Given the description of an element on the screen output the (x, y) to click on. 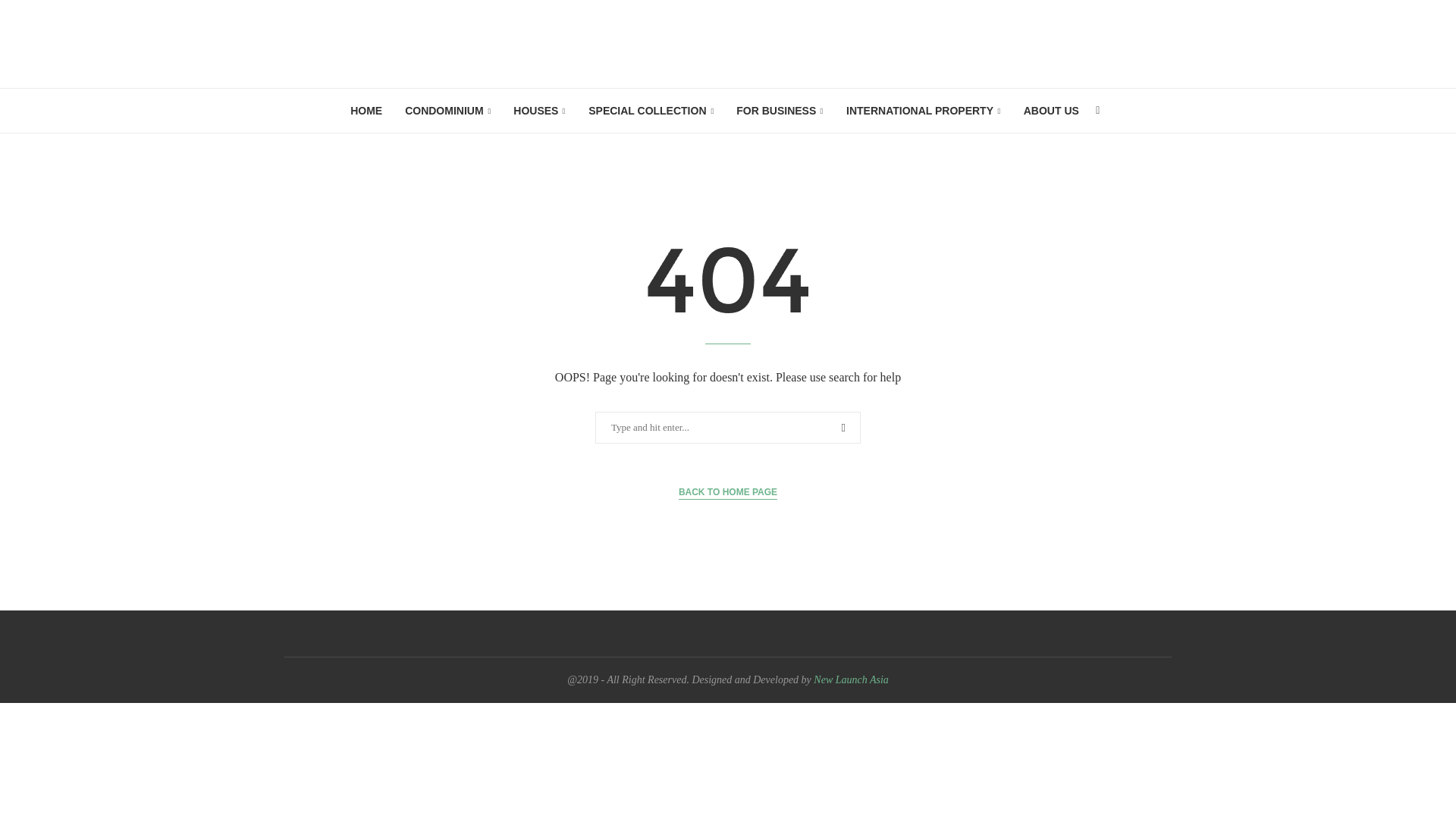
HOUSES (539, 110)
BACK TO HOME PAGE (727, 492)
FOR BUSINESS (780, 110)
SPECIAL COLLECTION (650, 110)
Search (35, 15)
INTERNATIONAL PROPERTY (923, 110)
ABOUT US (1050, 110)
CONDOMINIUM (447, 110)
